Given the description of an element on the screen output the (x, y) to click on. 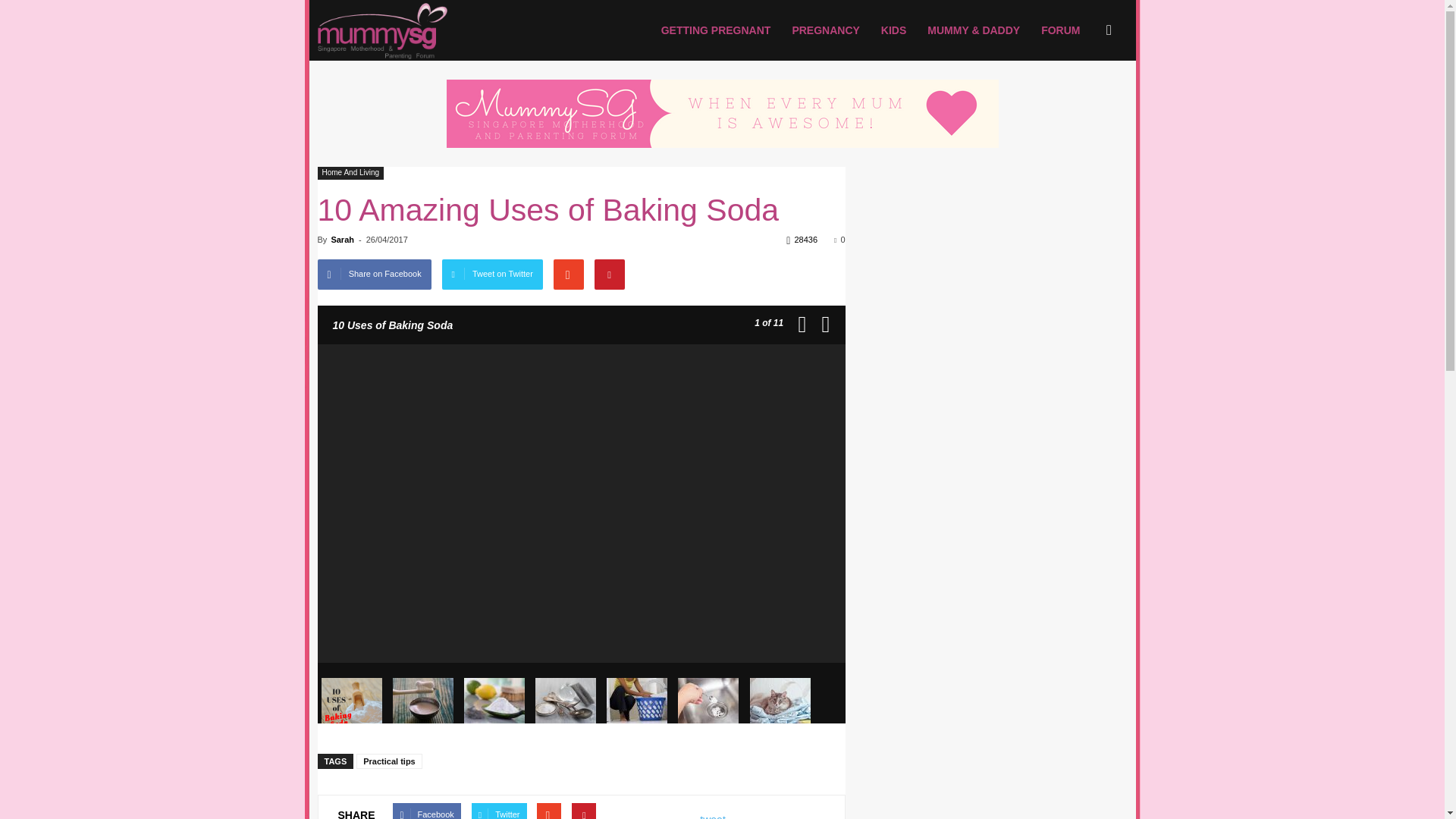
Sarah (341, 239)
Home And Living (350, 173)
Tweet on Twitter (492, 274)
0 (839, 239)
MummySG (381, 30)
GETTING PREGNANT (715, 30)
PREGNANCY (824, 30)
Share on Facebook (373, 274)
FORUM (1060, 30)
